Given the description of an element on the screen output the (x, y) to click on. 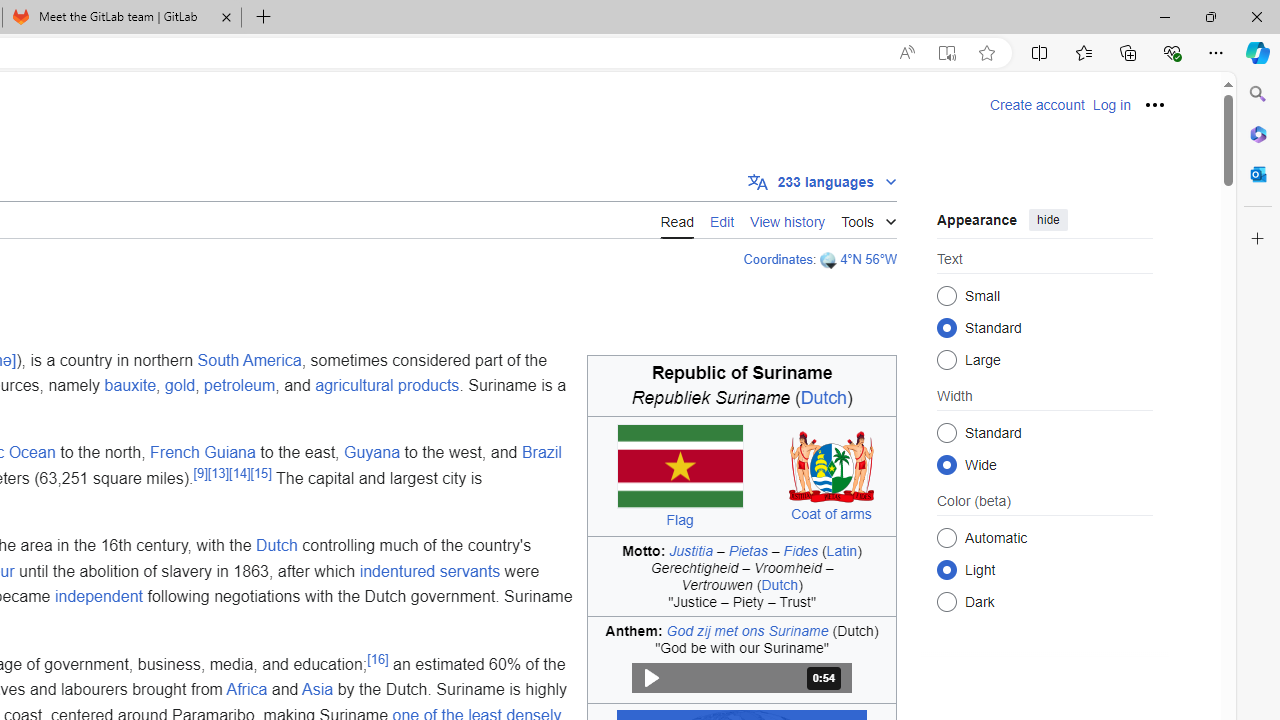
Fides (800, 550)
Edit (721, 219)
